Given the description of an element on the screen output the (x, y) to click on. 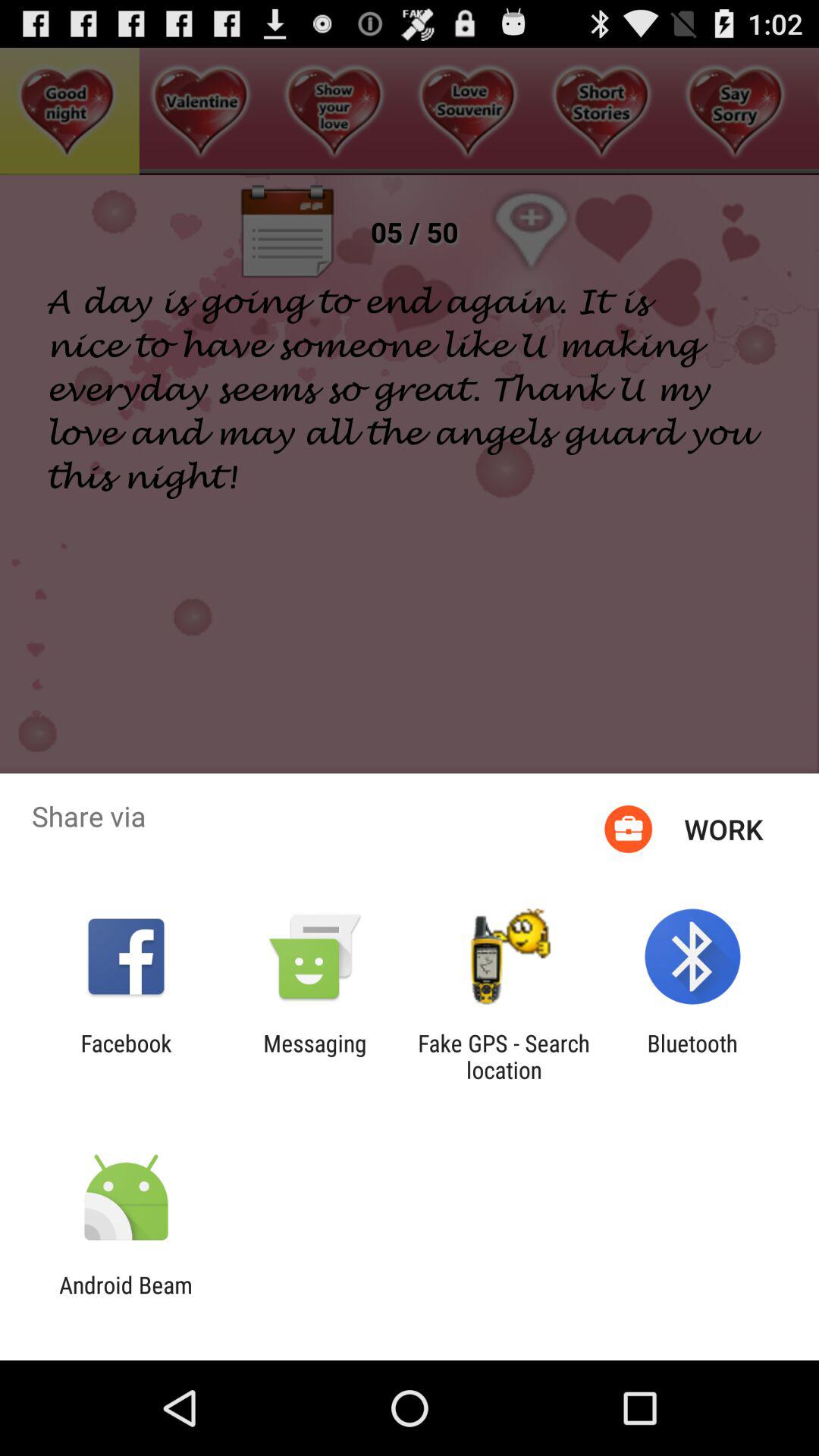
open app to the right of fake gps search item (692, 1056)
